Given the description of an element on the screen output the (x, y) to click on. 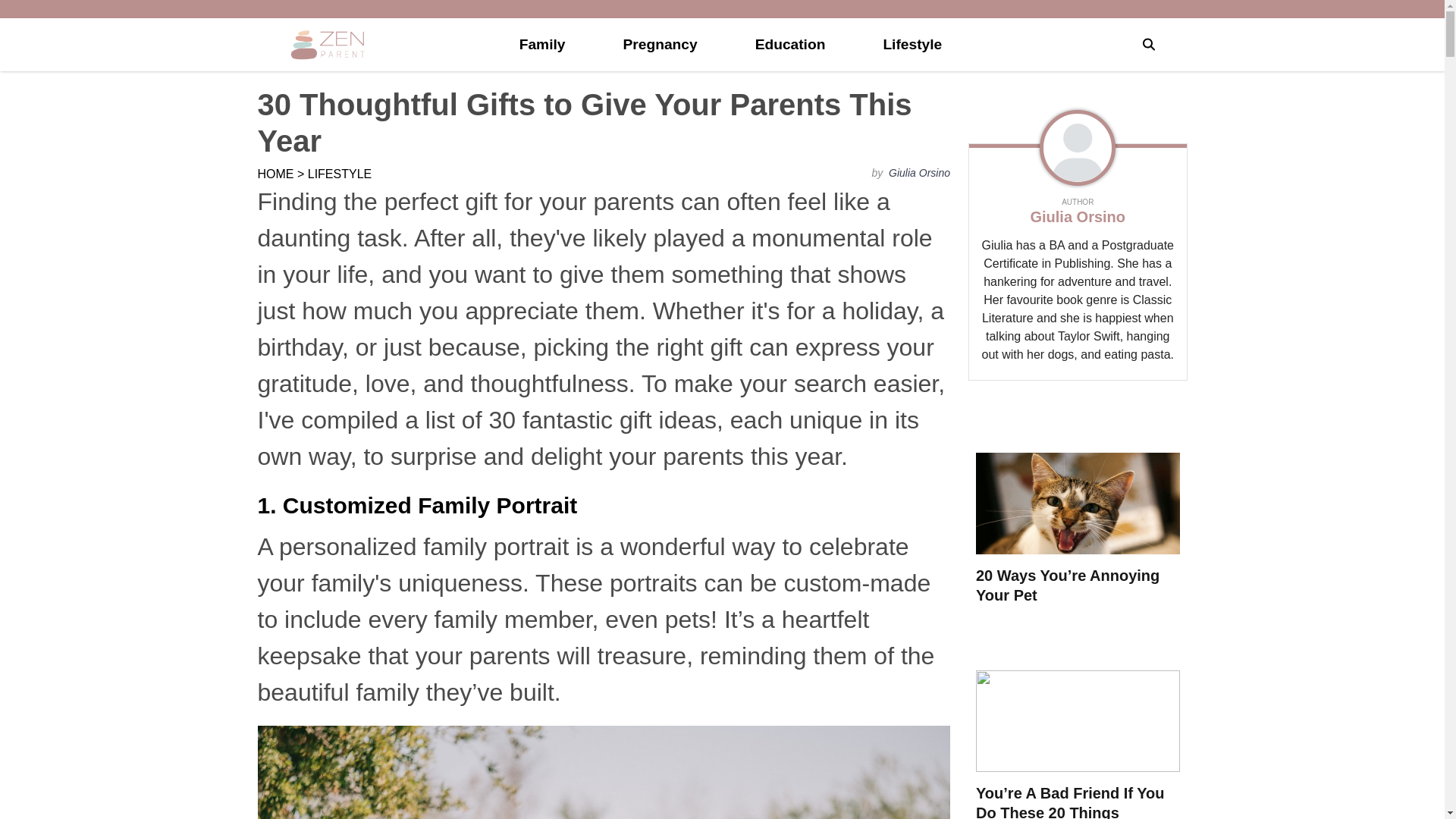
Giulia Orsino (917, 173)
HOME (275, 173)
LIFESTYLE (339, 173)
